Given the description of an element on the screen output the (x, y) to click on. 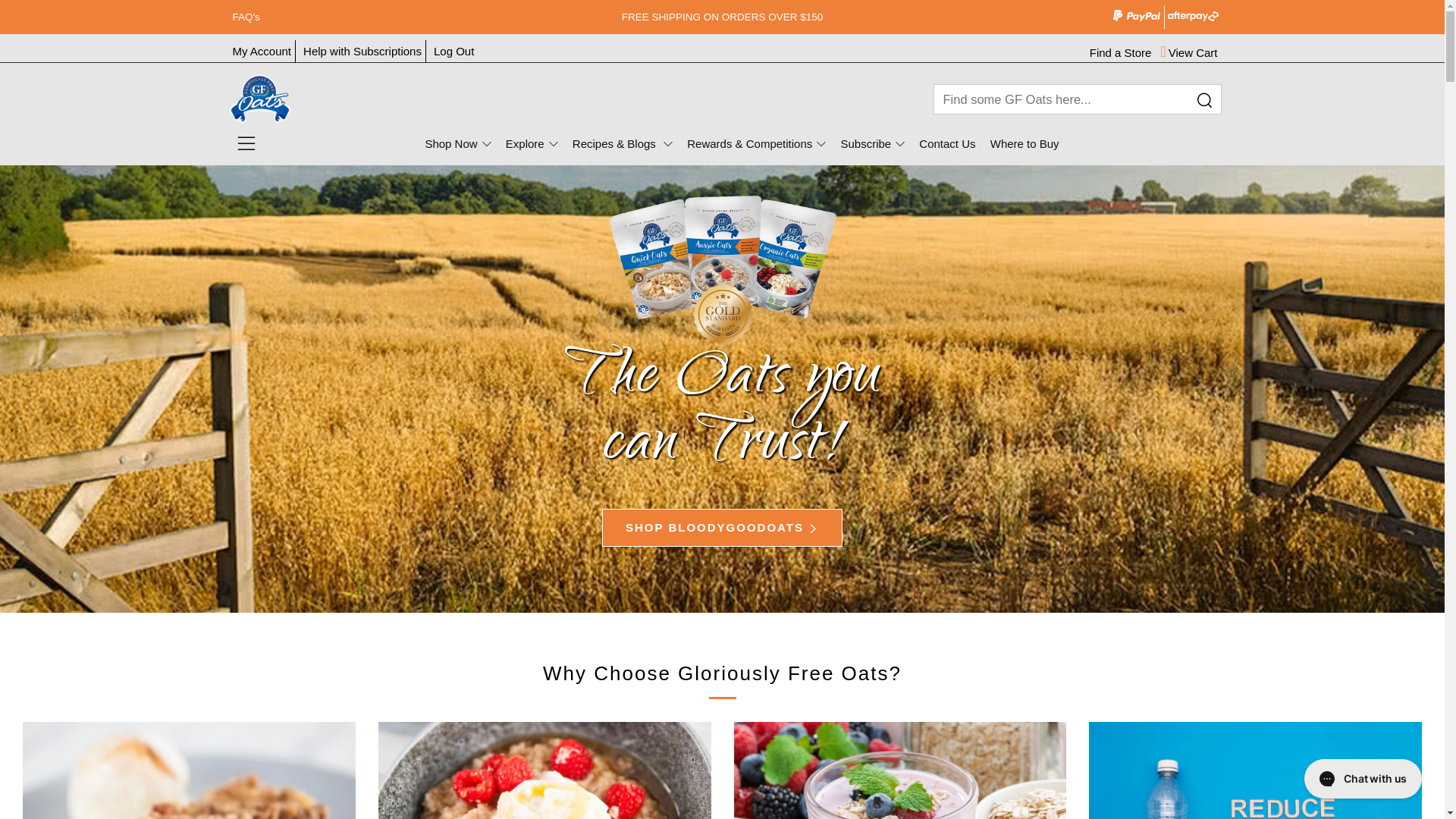
Help with Subscriptions Element type: text (362, 50)
FAQ's Element type: text (383, 17)
Gorgias live chat messenger Element type: hover (1362, 778)
Find a Store Element type: text (1120, 52)
Explore Element type: text (531, 143)
Recipes & Blogs Element type: text (622, 143)
View Cart Element type: text (1189, 52)
Subscribe Element type: text (872, 143)
Where to Buy Element type: text (1024, 143)
Rewards & Competitions Element type: text (756, 143)
Menu Element type: text (245, 143)
FREE SHIPPING ON ORDERS OVER $150 Element type: text (721, 17)
Shop Now Element type: text (457, 143)
Search Element type: text (1203, 101)
Contact Us Element type: text (947, 143)
Log Out Element type: text (453, 50)
SHOP BLOODYGOODOATS Element type: text (722, 527)
My Account Element type: text (261, 50)
